Given the description of an element on the screen output the (x, y) to click on. 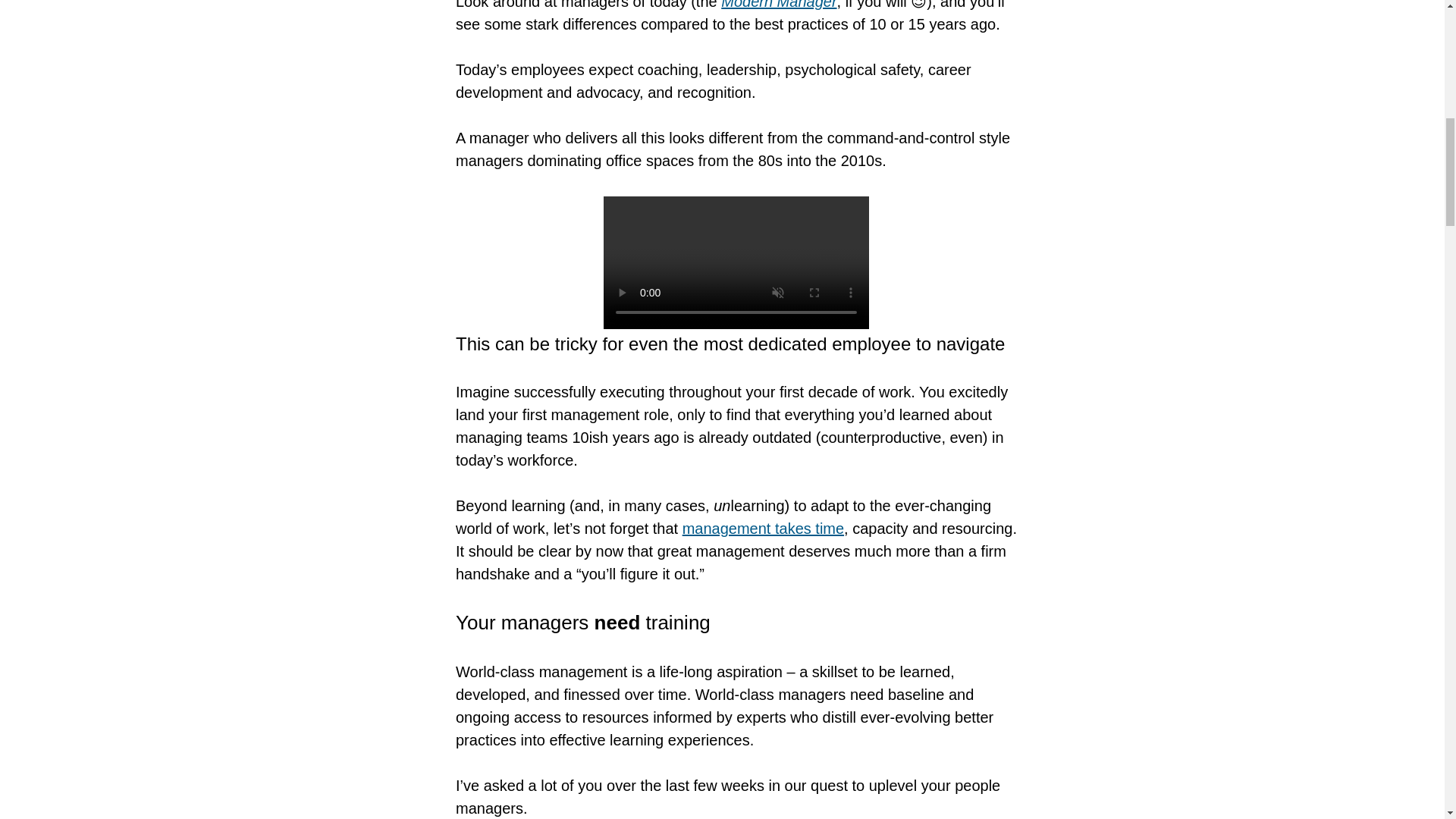
management takes time (763, 528)
Modern Manager (777, 4)
